Given the description of an element on the screen output the (x, y) to click on. 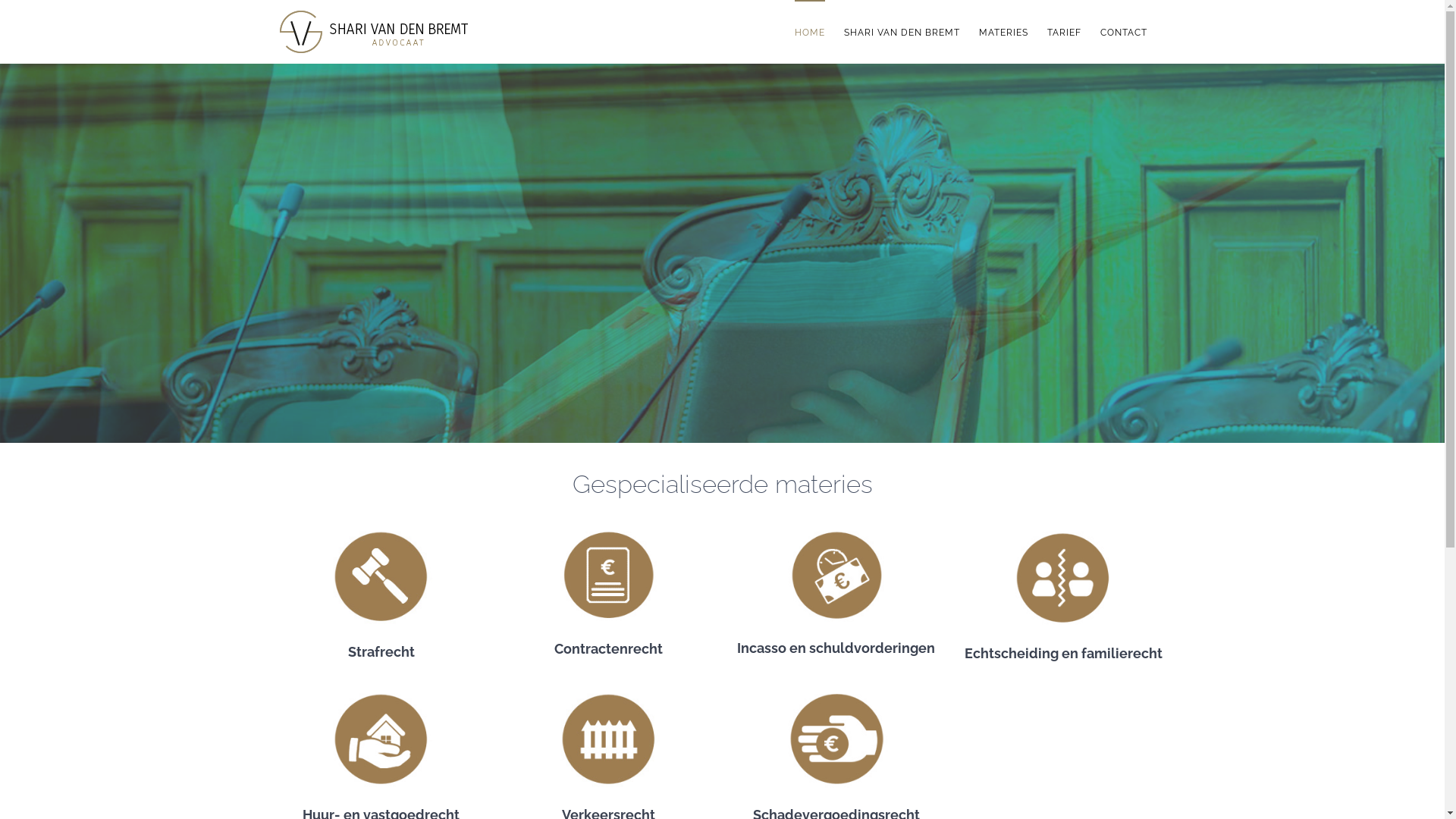
SHARI VAN DEN BREMT Element type: text (901, 31)
LEES MEER... Element type: text (142, 351)
TARIEF Element type: text (1063, 31)
MATERIES Element type: text (1002, 31)
CONTACT Element type: text (1122, 31)
HOME Element type: text (809, 31)
